Given the description of an element on the screen output the (x, y) to click on. 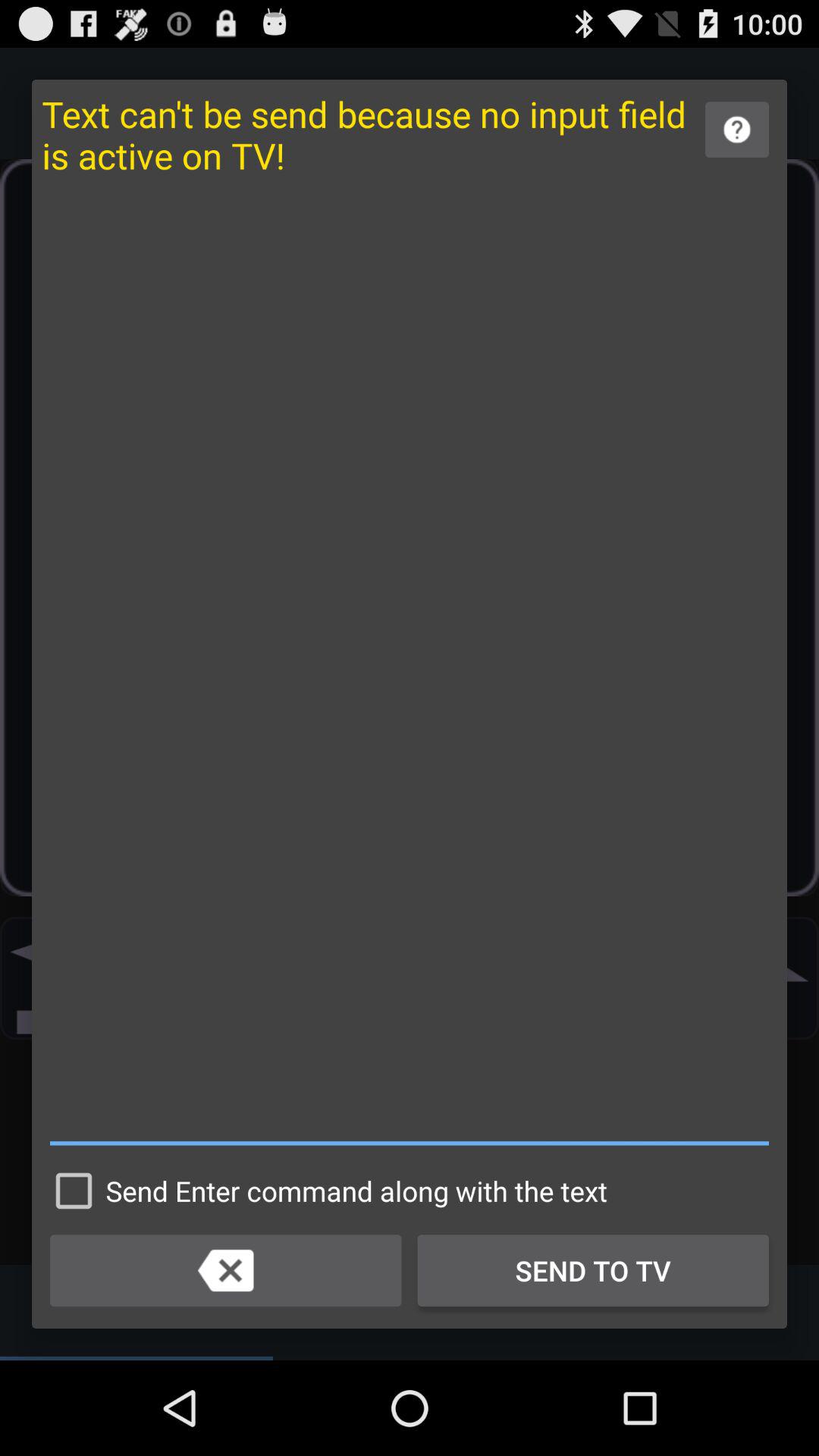
launch item above the send enter command item (409, 669)
